Given the description of an element on the screen output the (x, y) to click on. 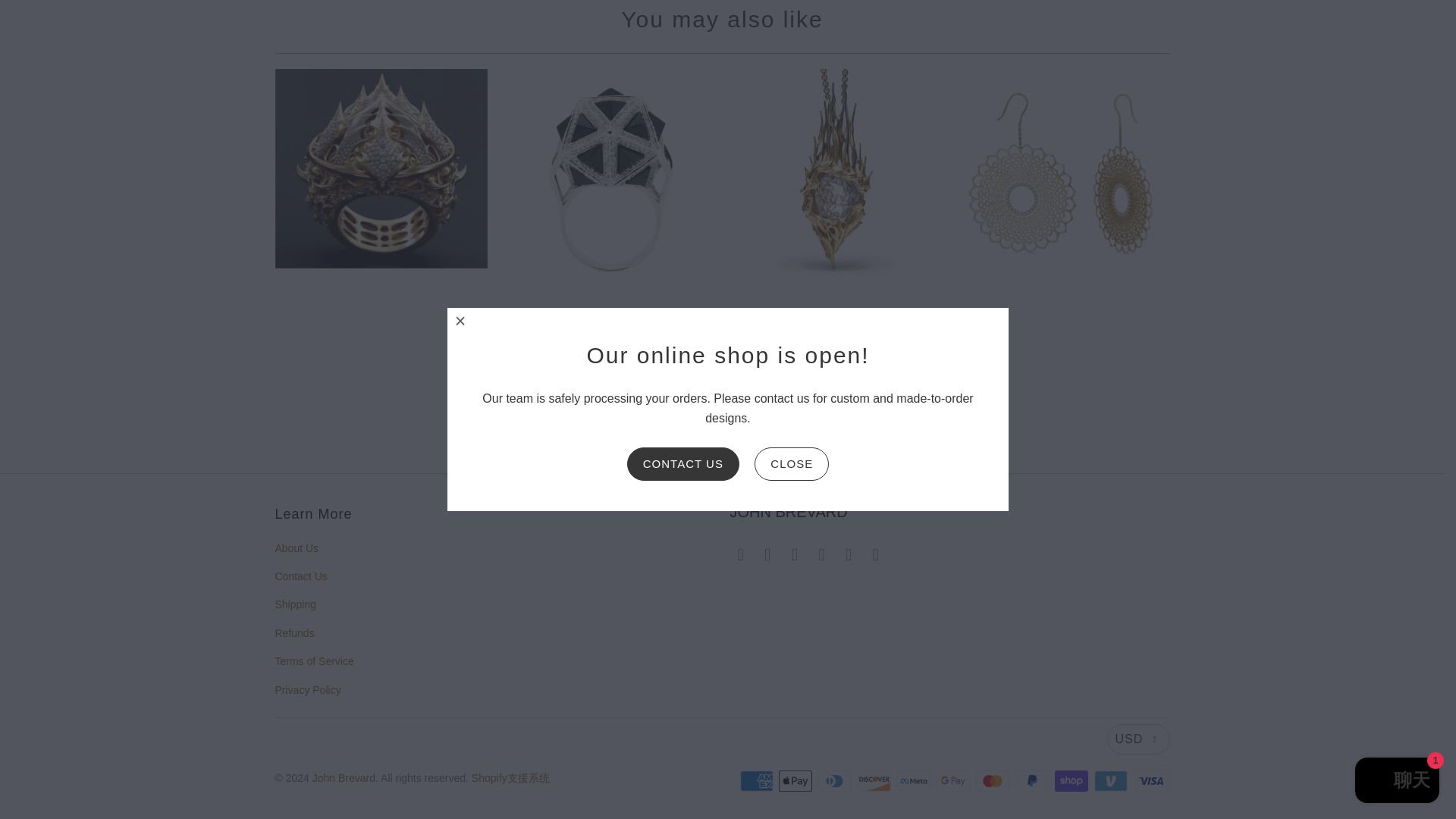
PayPal (1032, 780)
Shop Pay (1072, 780)
Mastercard (993, 780)
Apple Pay (796, 780)
Diners Club (836, 780)
Meta Pay (914, 780)
American Express (757, 780)
Google Pay (954, 780)
Venmo (1112, 780)
Discover (875, 780)
Visa (1150, 780)
